Given the description of an element on the screen output the (x, y) to click on. 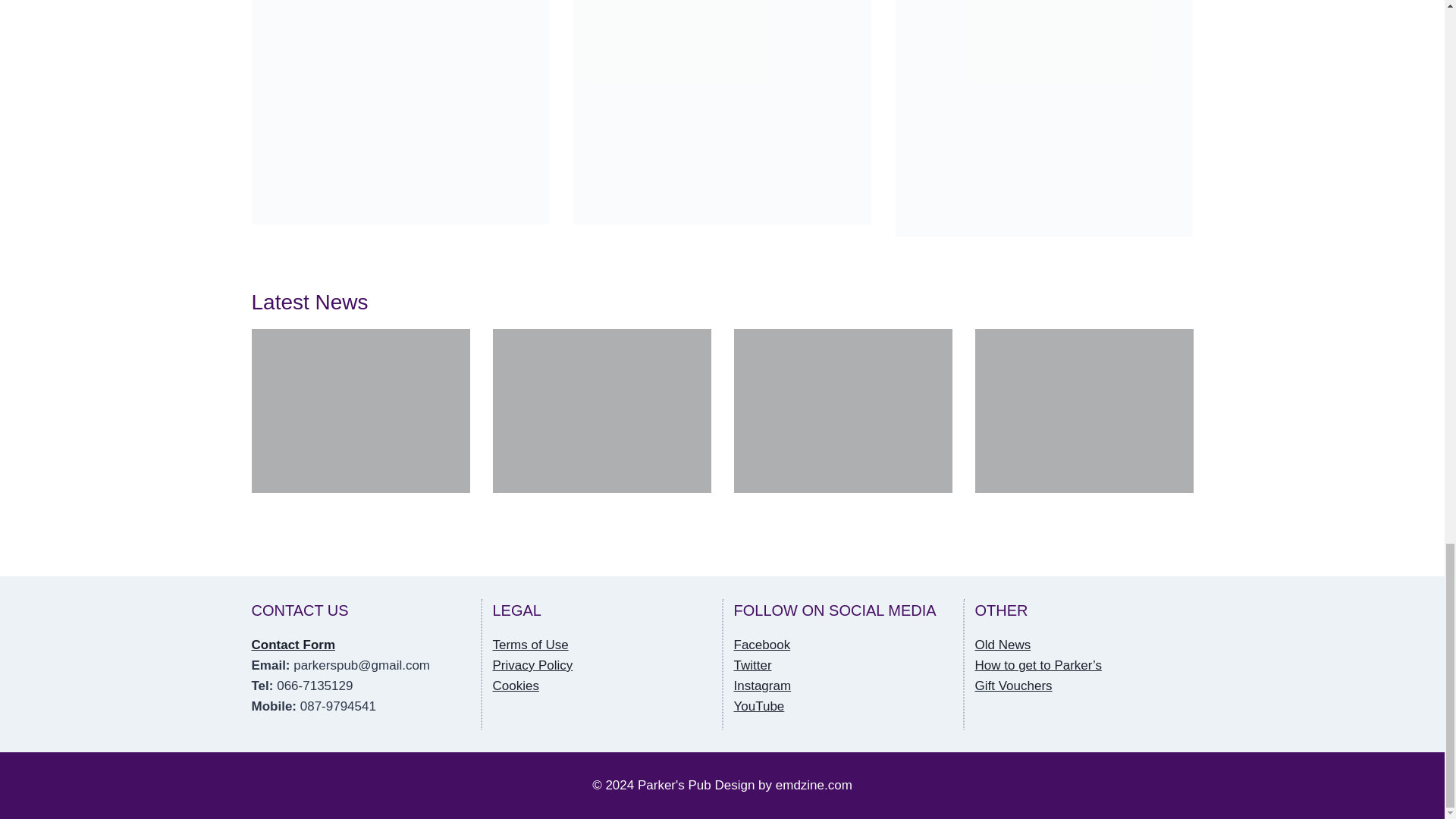
Facebook (761, 644)
Terms of Use (531, 644)
Cookies (515, 685)
Contact Form (293, 644)
Privacy Policy (533, 665)
